Given the description of an element on the screen output the (x, y) to click on. 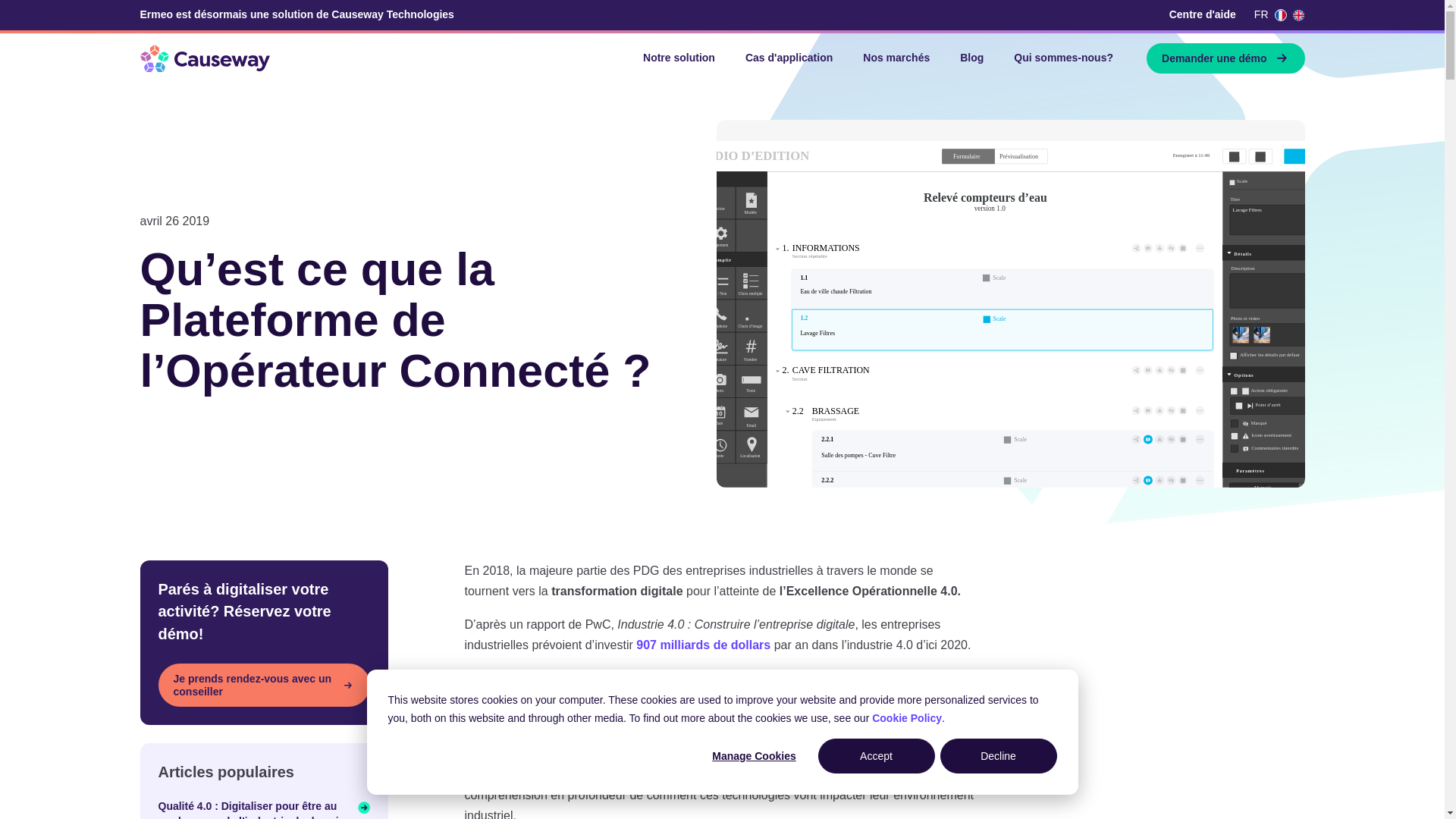
Notre solution (678, 58)
FR (1270, 14)
Centre d'aide (1202, 14)
Blog (971, 58)
EN (1298, 15)
Cas d'application (788, 58)
